Given the description of an element on the screen output the (x, y) to click on. 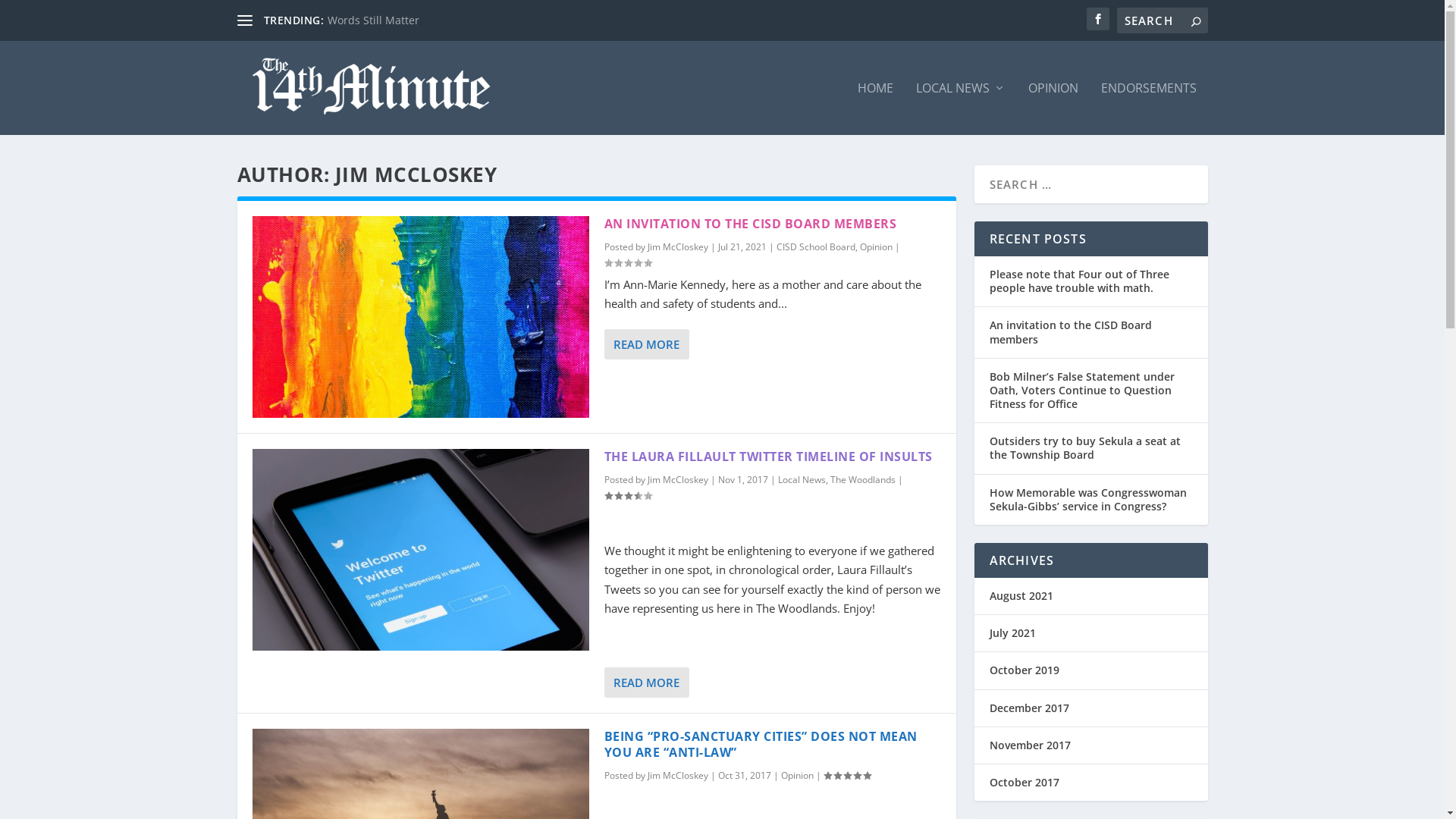
November 2017 Element type: text (1029, 744)
THE LAURA FILLAULT TWITTER TIMELINE OF INSULTS Element type: text (767, 456)
December 2017 Element type: text (1028, 707)
An invitation to the CISD Board members Element type: hover (419, 316)
Search Element type: text (30, 15)
Words Still Matter Element type: text (373, 19)
Outsiders try to buy Sekula a seat at the Township Board Element type: text (1083, 447)
ENDORSEMENTS Element type: text (1148, 107)
Local News Element type: text (801, 479)
Rating: 3.50 Element type: hover (626, 495)
LOCAL NEWS Element type: text (960, 107)
October 2019 Element type: text (1023, 669)
Jim McCloskey Element type: text (677, 246)
AN INVITATION TO THE CISD BOARD MEMBERS Element type: text (749, 223)
READ MORE Element type: text (645, 682)
October 2017 Element type: text (1023, 782)
July 2021 Element type: text (1011, 632)
HOME Element type: text (874, 107)
Rating: 0.00 Element type: hover (626, 262)
Opinion Element type: text (797, 774)
READ MORE Element type: text (645, 344)
August 2021 Element type: text (1020, 595)
CISD School Board Element type: text (815, 246)
An invitation to the CISD Board members Element type: text (1069, 331)
Jim McCloskey Element type: text (677, 774)
Jim McCloskey Element type: text (677, 479)
Rating: 5.00 Element type: hover (846, 775)
OPINION Element type: text (1053, 107)
The Woodlands Element type: text (861, 479)
The Laura Fillault Twitter Timeline of Insults Element type: hover (419, 549)
Search for: Element type: hover (1161, 20)
Opinion Element type: text (875, 246)
